Given the description of an element on the screen output the (x, y) to click on. 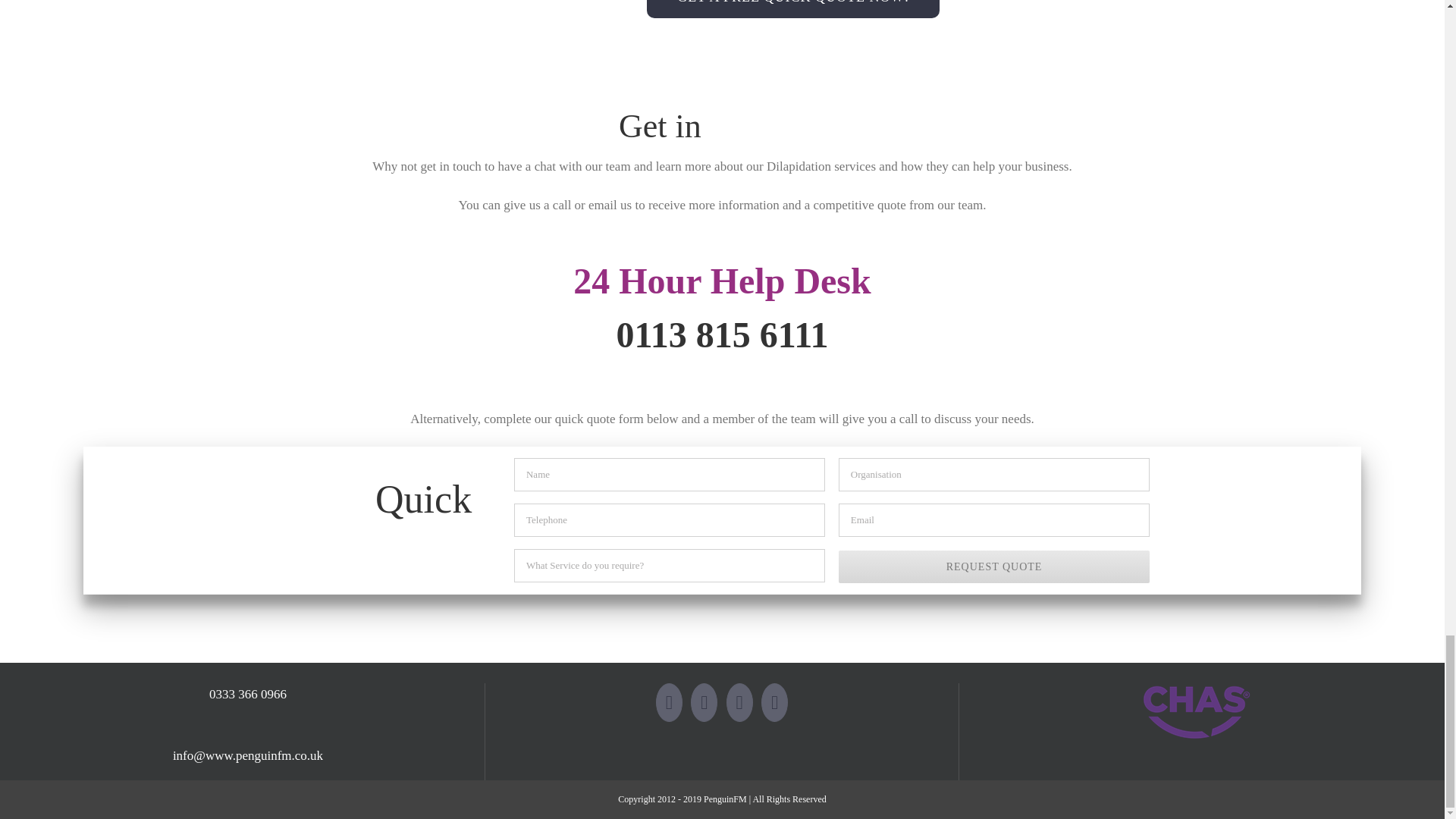
Request Quote (994, 566)
